Given the description of an element on the screen output the (x, y) to click on. 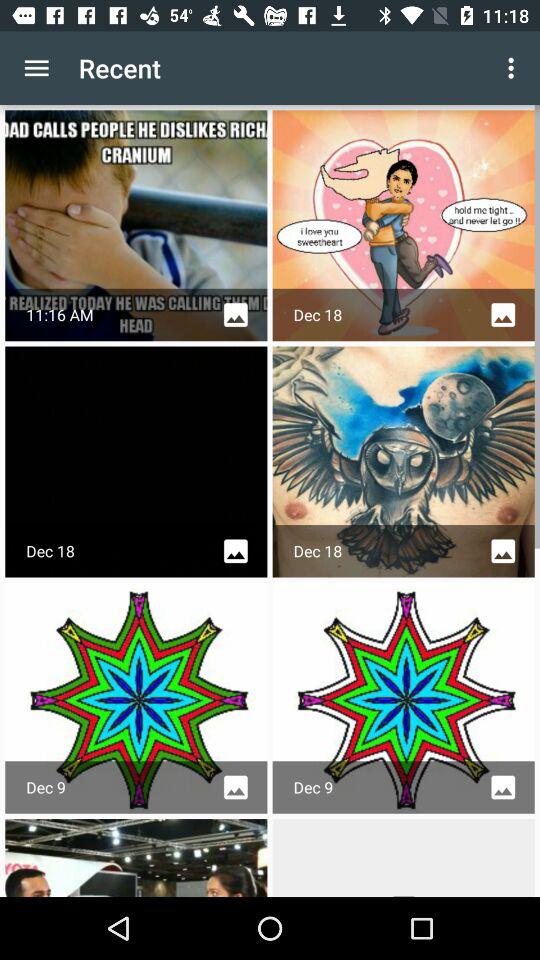
choose app next to the recent app (513, 67)
